Given the description of an element on the screen output the (x, y) to click on. 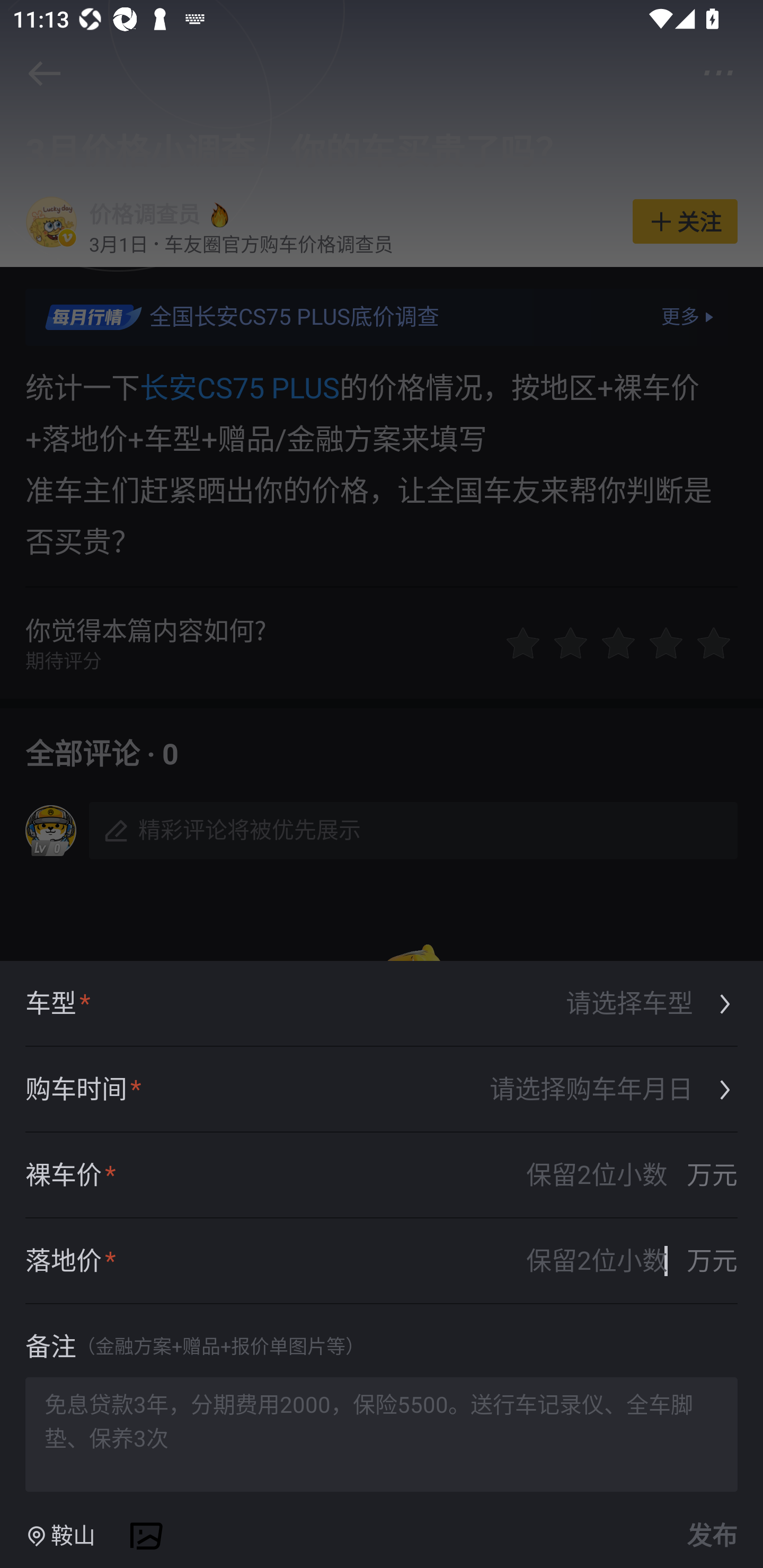
车型 * 请选择车型 (381, 1004)
购车时间 * 请选择购车年月日 (381, 1089)
免息贷款3年，分期费用2000，保险5500。送行车记录仪、全车脚垫、保养3次 (381, 1433)
发布 (708, 1535)
鞍山 (60, 1536)
